Given the description of an element on the screen output the (x, y) to click on. 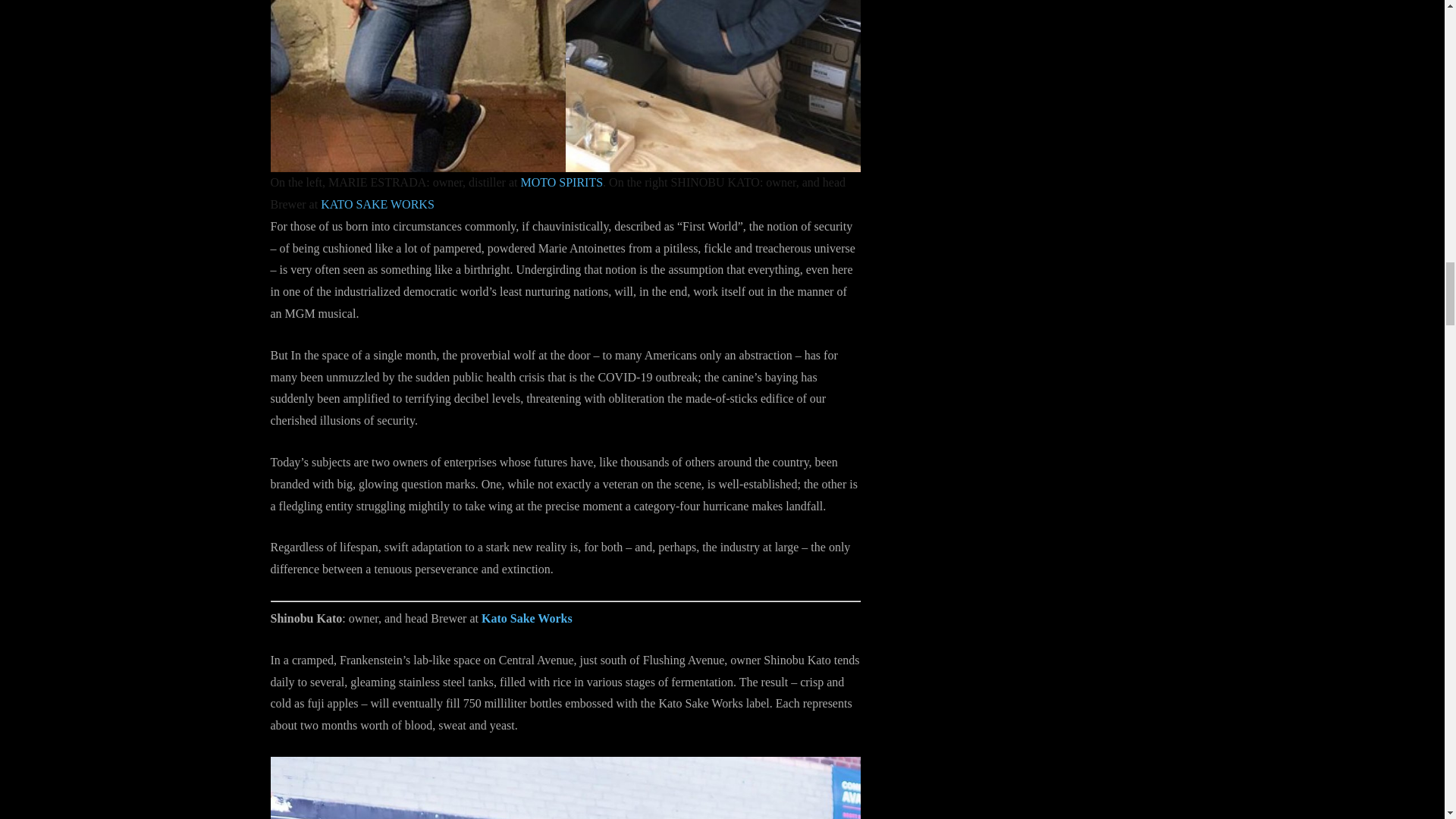
KATO SAKE WORKS (376, 204)
Kato Sake Works (526, 617)
MOTO SPIRITS (560, 182)
